Given the description of an element on the screen output the (x, y) to click on. 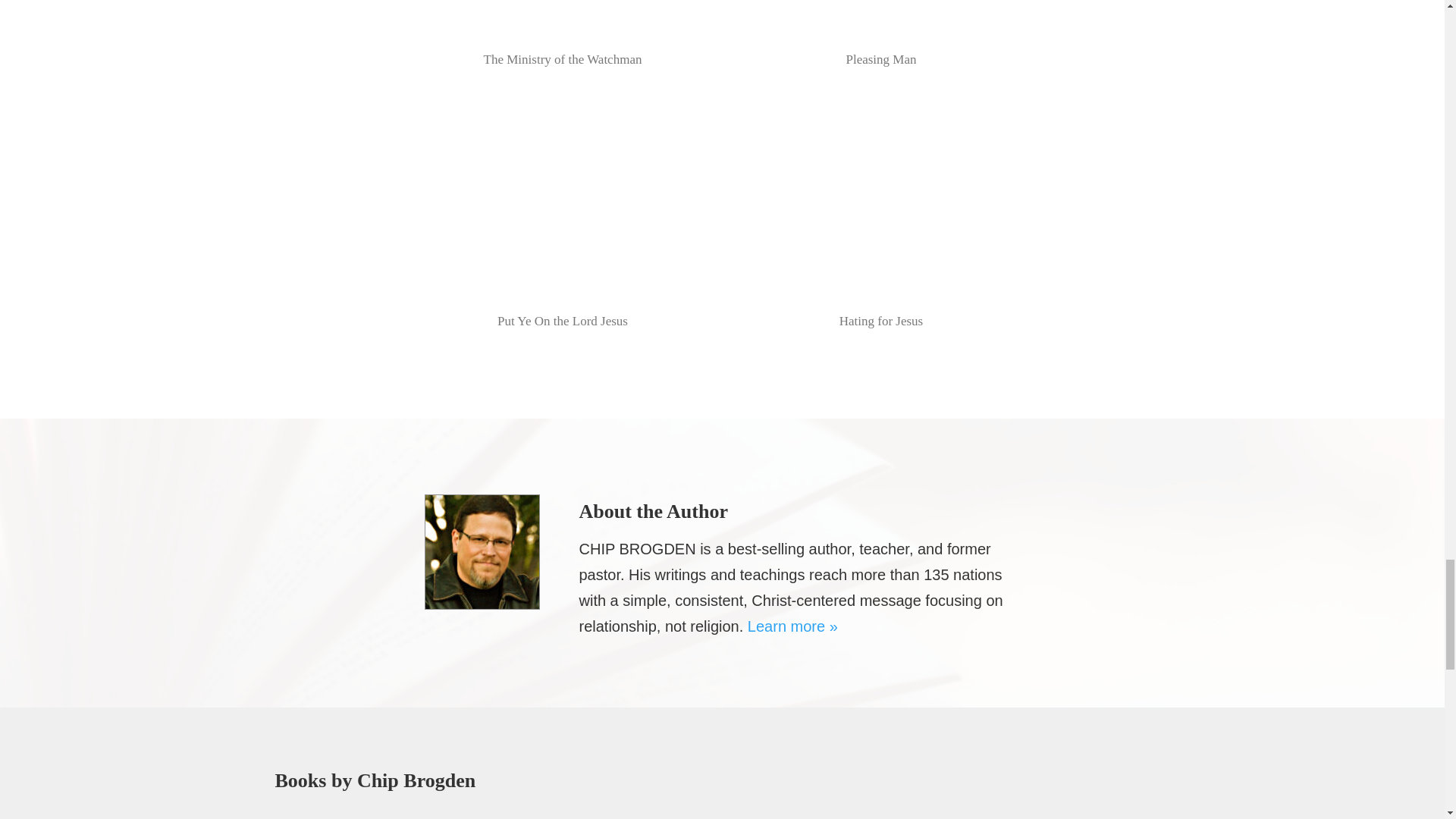
Hating for Jesus (879, 221)
Put Ye On the Lord Jesus (561, 221)
chip-brogden-lg (481, 552)
Put Ye On the Lord Jesus (561, 221)
Pleasing Man (879, 37)
The Ministry of the Watchman (561, 37)
Pleasing Man (879, 37)
The Ministry of the Watchman (561, 37)
Hating for Jesus (879, 221)
